Given the description of an element on the screen output the (x, y) to click on. 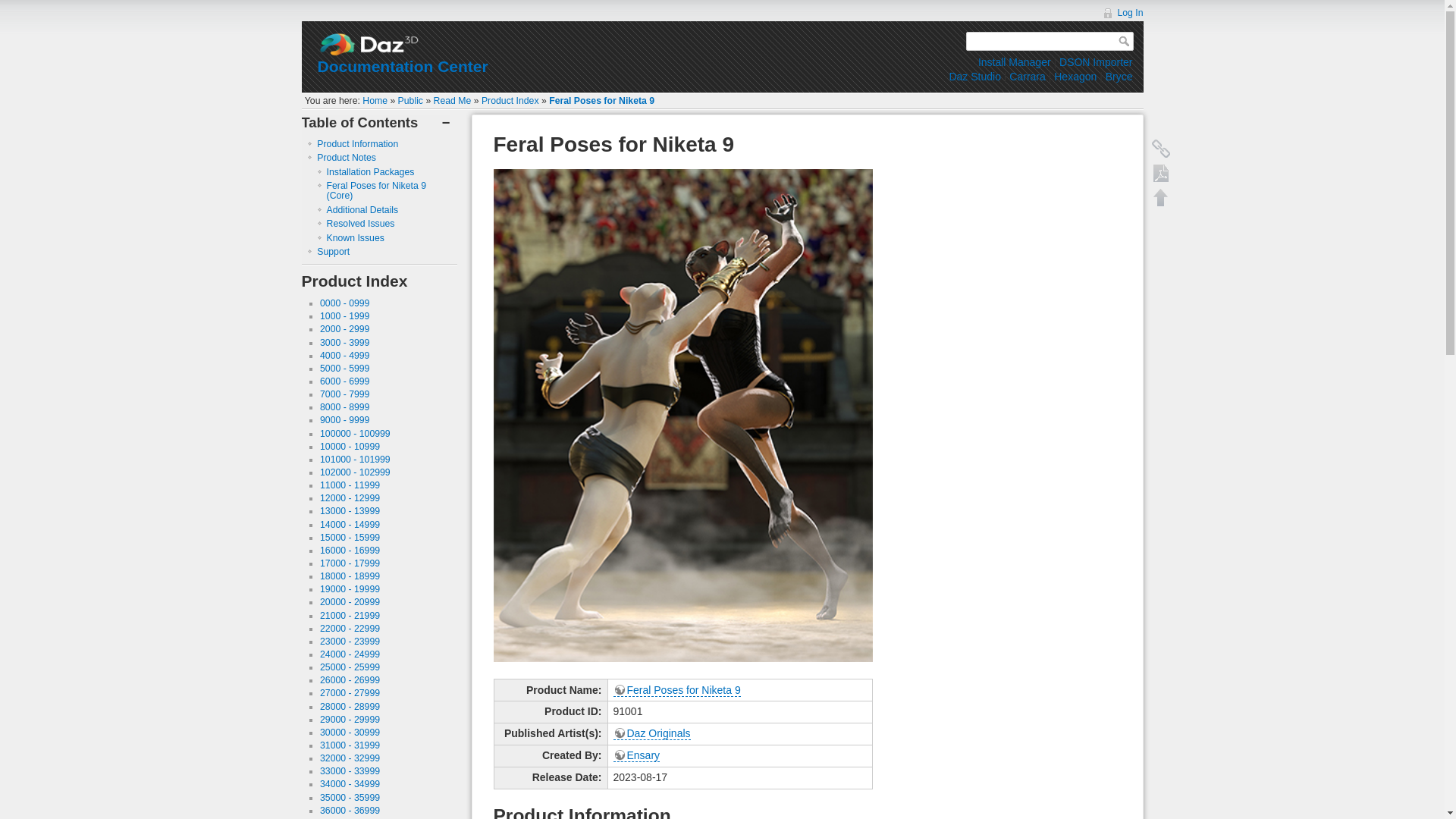
3000 - 3999 (344, 342)
10000 - 10999 (350, 446)
Read Me (452, 100)
Home (374, 100)
Daz Studio (974, 76)
start (374, 100)
Search (1125, 40)
Log In (1122, 12)
Support (333, 251)
Product Notes (346, 157)
